Given the description of an element on the screen output the (x, y) to click on. 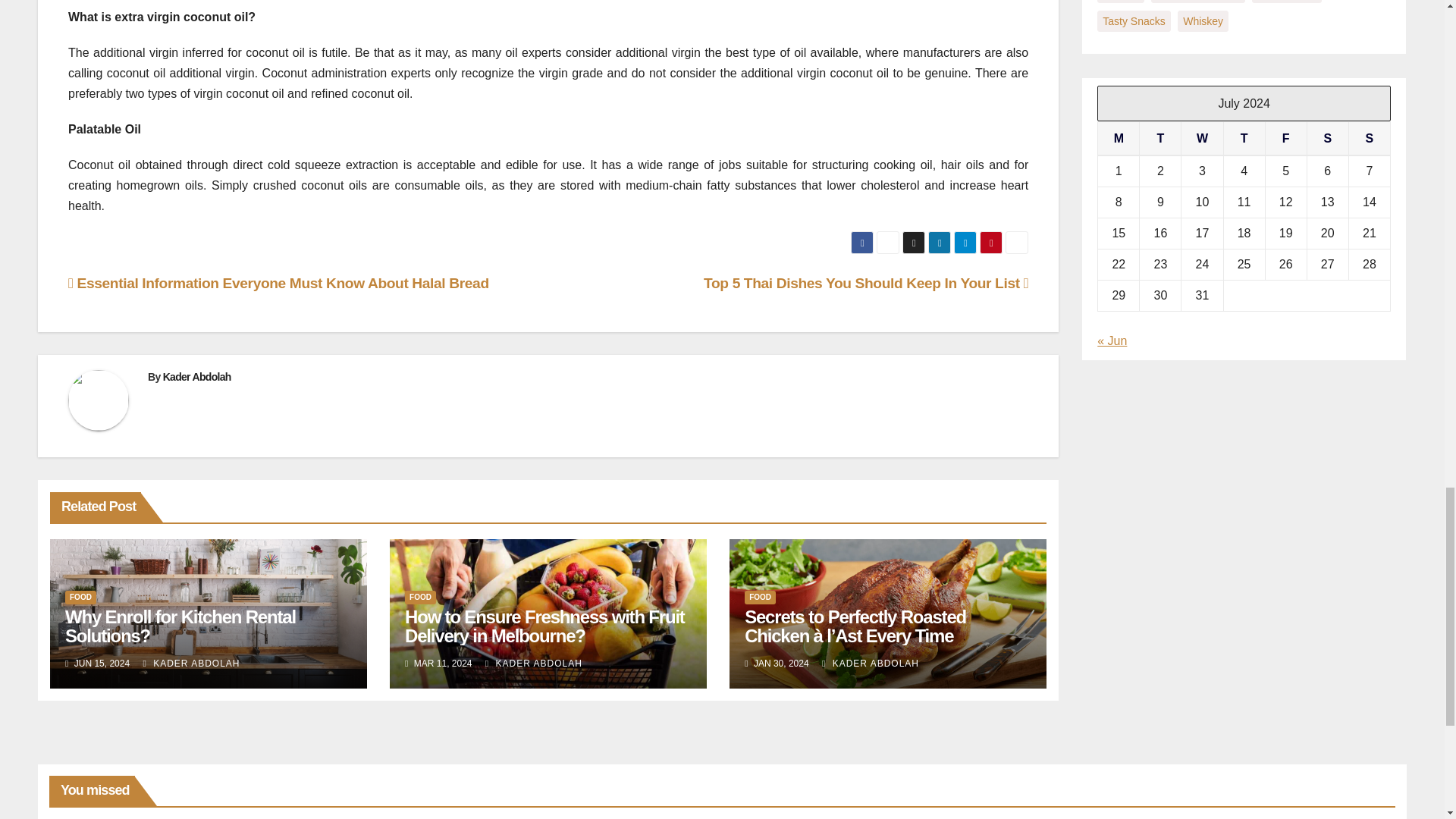
FOOD (760, 597)
How to Ensure Freshness with Fruit Delivery in Melbourne? (544, 626)
FOOD (419, 597)
Essential Information Everyone Must Know About Halal Bread (278, 283)
FOOD (80, 597)
Tuesday (1160, 138)
Permalink to: Why Enroll for Kitchen Rental Solutions? (180, 626)
Kader Abdolah (197, 377)
KADER ABDOLAH (533, 663)
Why Enroll for Kitchen Rental Solutions? (180, 626)
KADER ABDOLAH (191, 663)
Monday (1118, 138)
Top 5 Thai Dishes You Should Keep In Your List (865, 283)
